Given the description of an element on the screen output the (x, y) to click on. 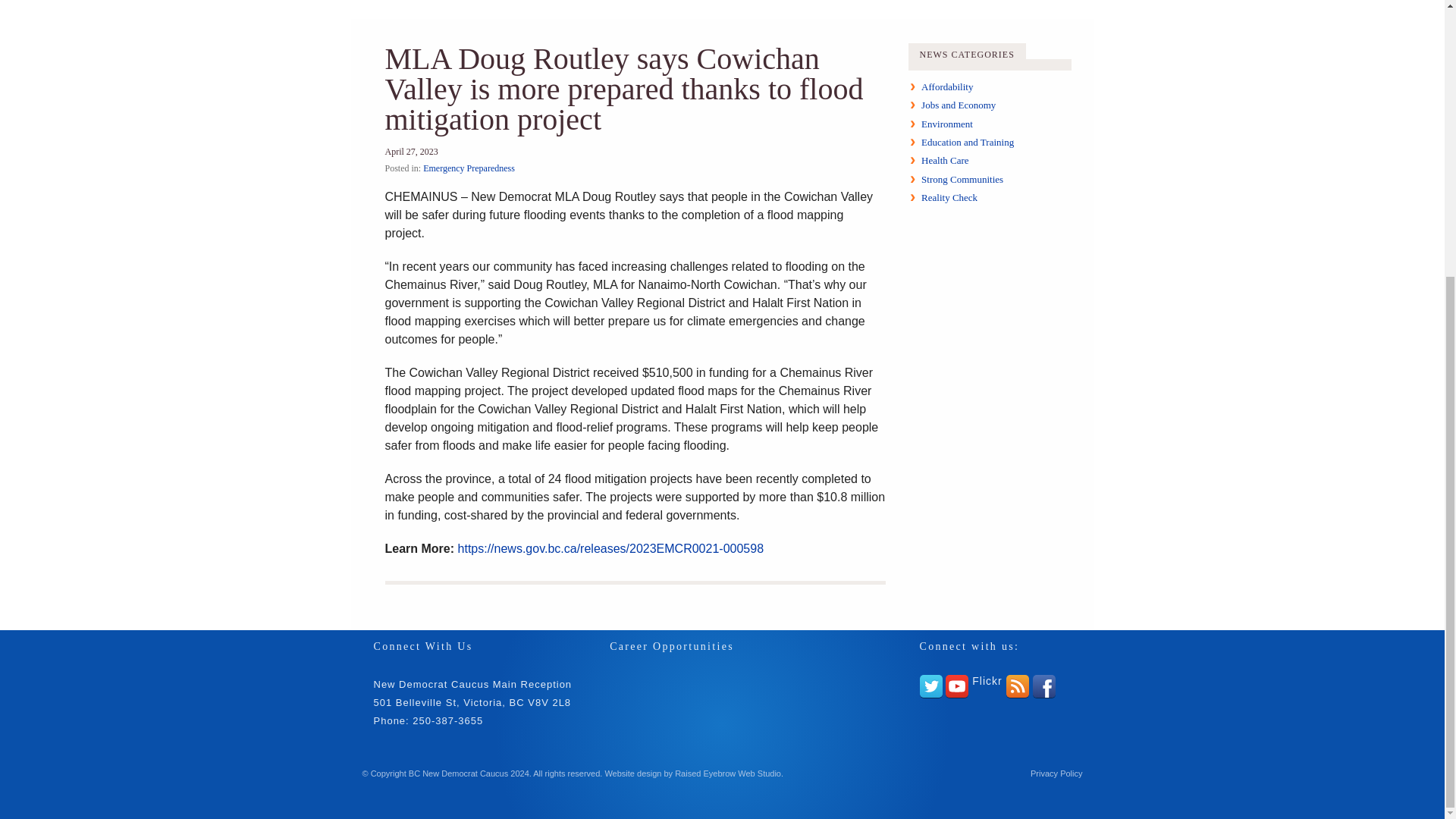
Flickr (986, 680)
Health Care (944, 160)
Reality Check (948, 197)
BCNDP Caucus on Facebook (1043, 685)
Education and Training (967, 142)
View all posts filed under Affordability (946, 86)
View all posts filed under Reality Check (948, 197)
BCNDP Caucus on Twitter (930, 685)
Jobs and Economy (958, 104)
Youtube (956, 685)
Environment (946, 123)
Twitter (930, 685)
BCNDP Caucus on Youtube (956, 685)
Strong Communities (962, 179)
View all posts filed under Strong Communities (962, 179)
